Given the description of an element on the screen output the (x, y) to click on. 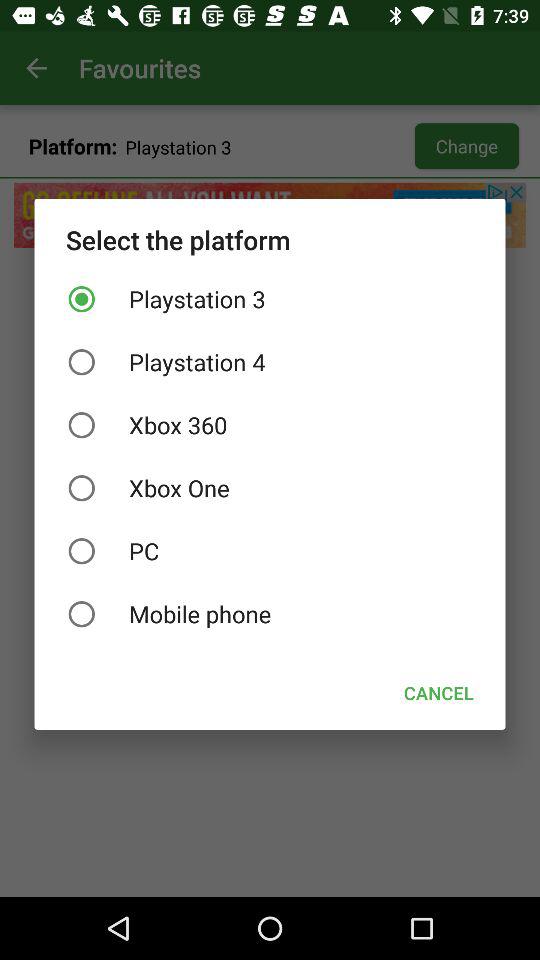
turn off cancel icon (438, 692)
